Given the description of an element on the screen output the (x, y) to click on. 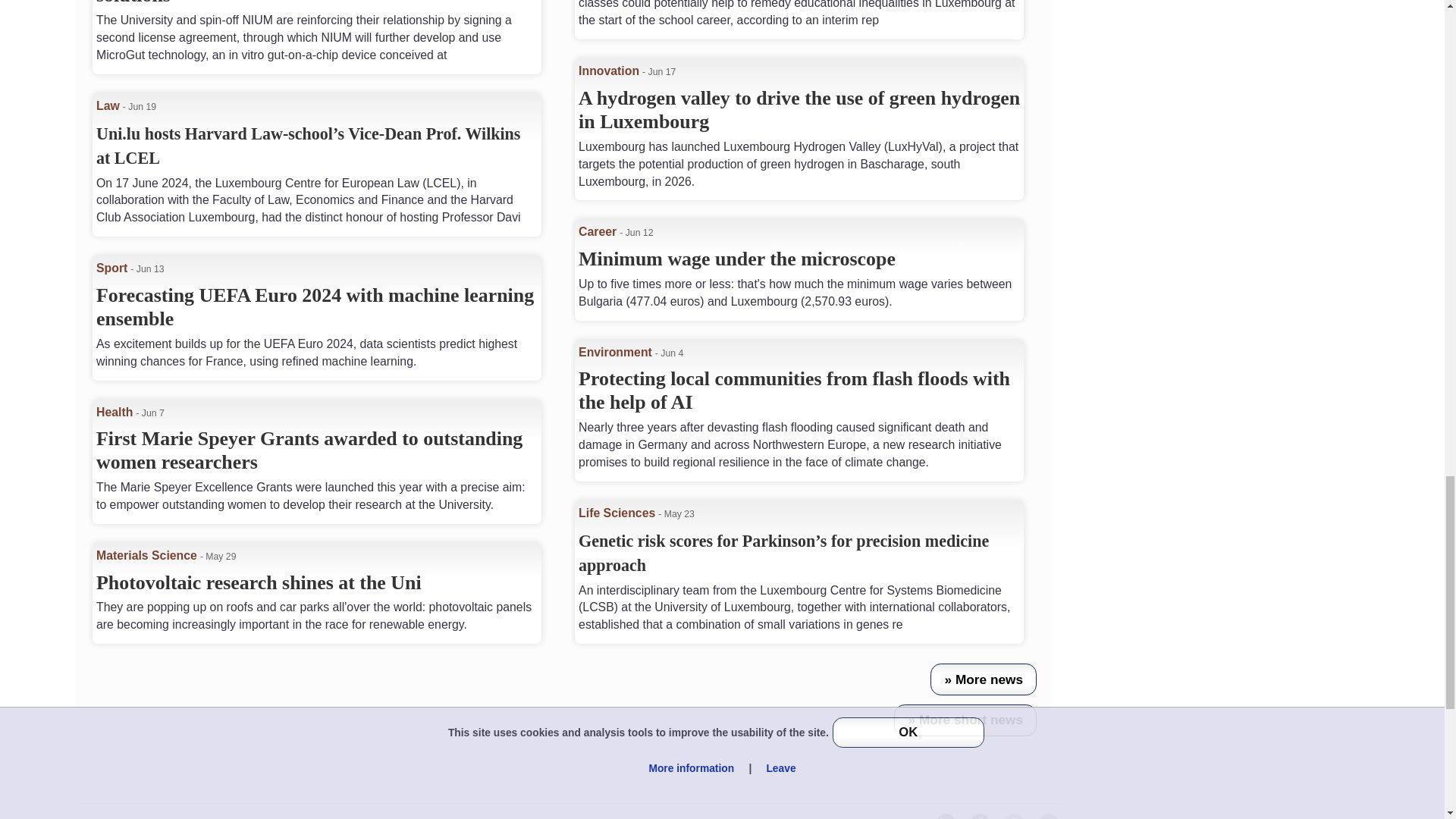
Share on LinkedIn (945, 815)
Send by Email (1047, 815)
Share on WhatsApp Web (1014, 815)
Share on Facebook (980, 815)
